Given the description of an element on the screen output the (x, y) to click on. 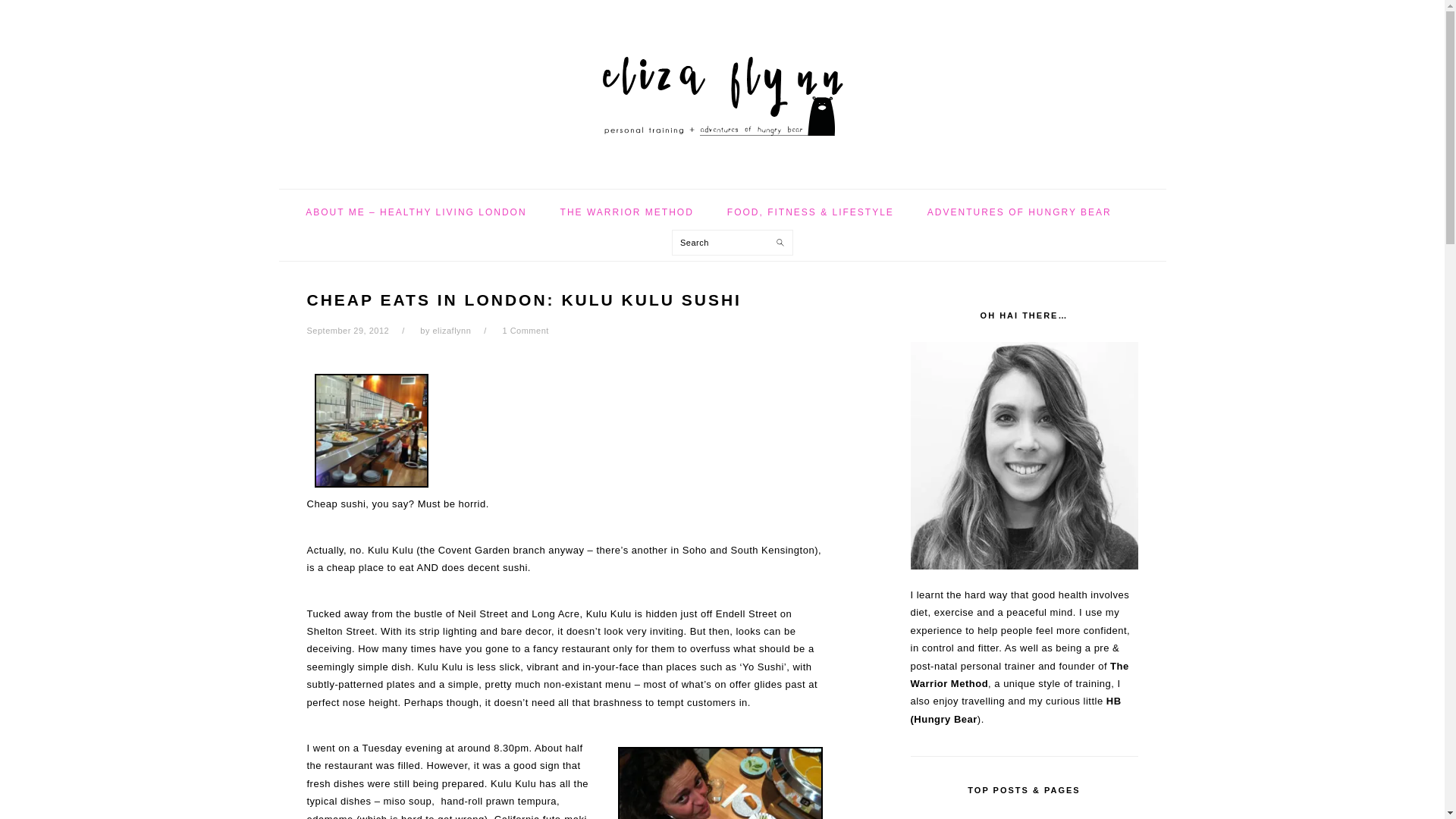
elizaflynn (451, 329)
THE WARRIOR METHOD (627, 212)
Kulu Kulu Sushi Allegra Catolfi Salvoni (719, 782)
ADVENTURES OF HUNGRY BEAR (1018, 212)
ELIZA FLYNN PERSONAL TRAINER (721, 89)
1 Comment (525, 329)
